Given the description of an element on the screen output the (x, y) to click on. 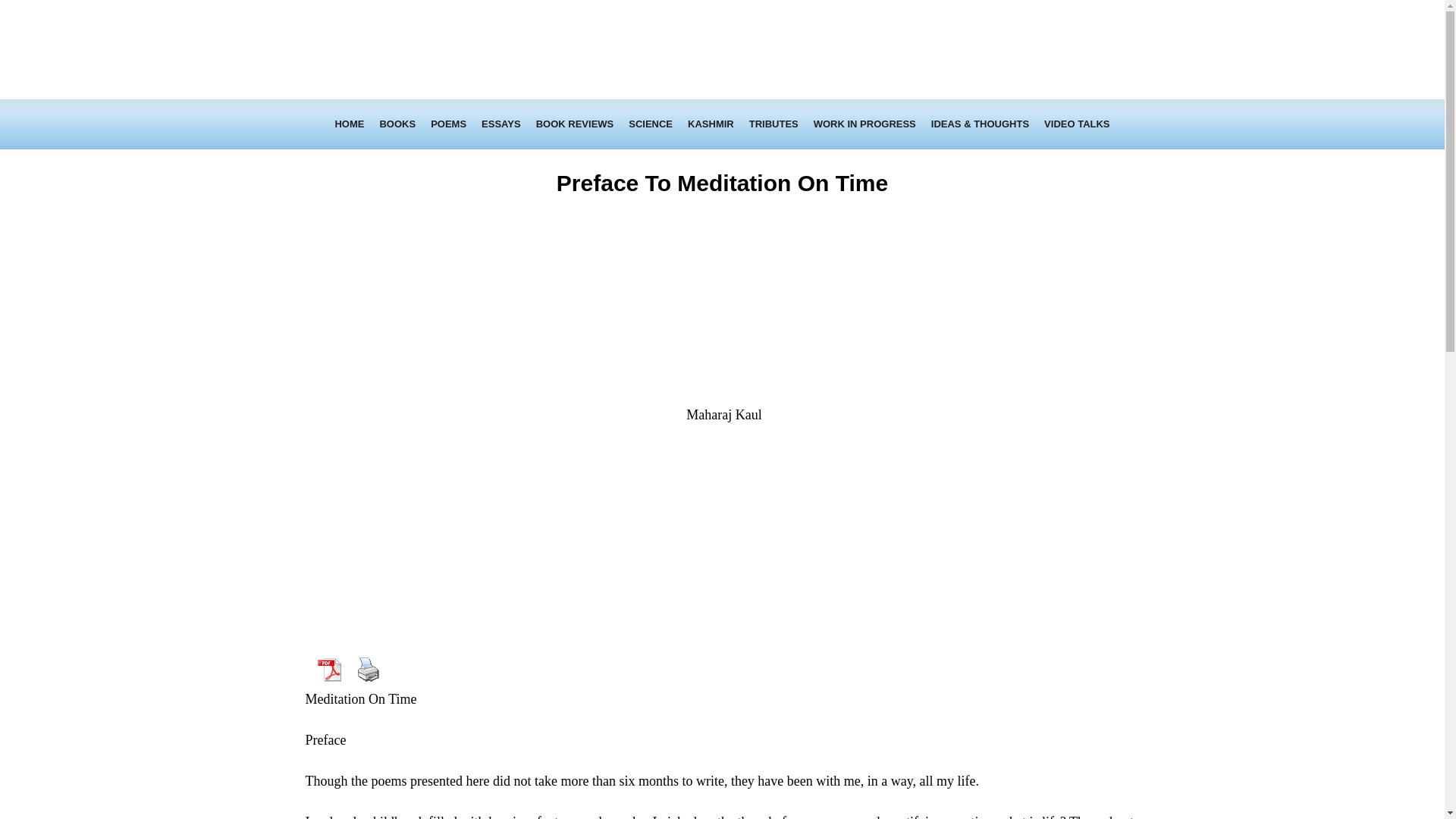
BOOKS (397, 124)
POEMS (448, 124)
WORK IN PROGRESS (864, 124)
BOOK REVIEWS (574, 124)
View PDF (328, 669)
SCIENCE (650, 124)
TRIBUTES (773, 124)
Print Content (368, 669)
VIDEO TALKS (1076, 124)
KASHMIR (710, 124)
ESSAYS (501, 124)
HOME (348, 124)
